Given the description of an element on the screen output the (x, y) to click on. 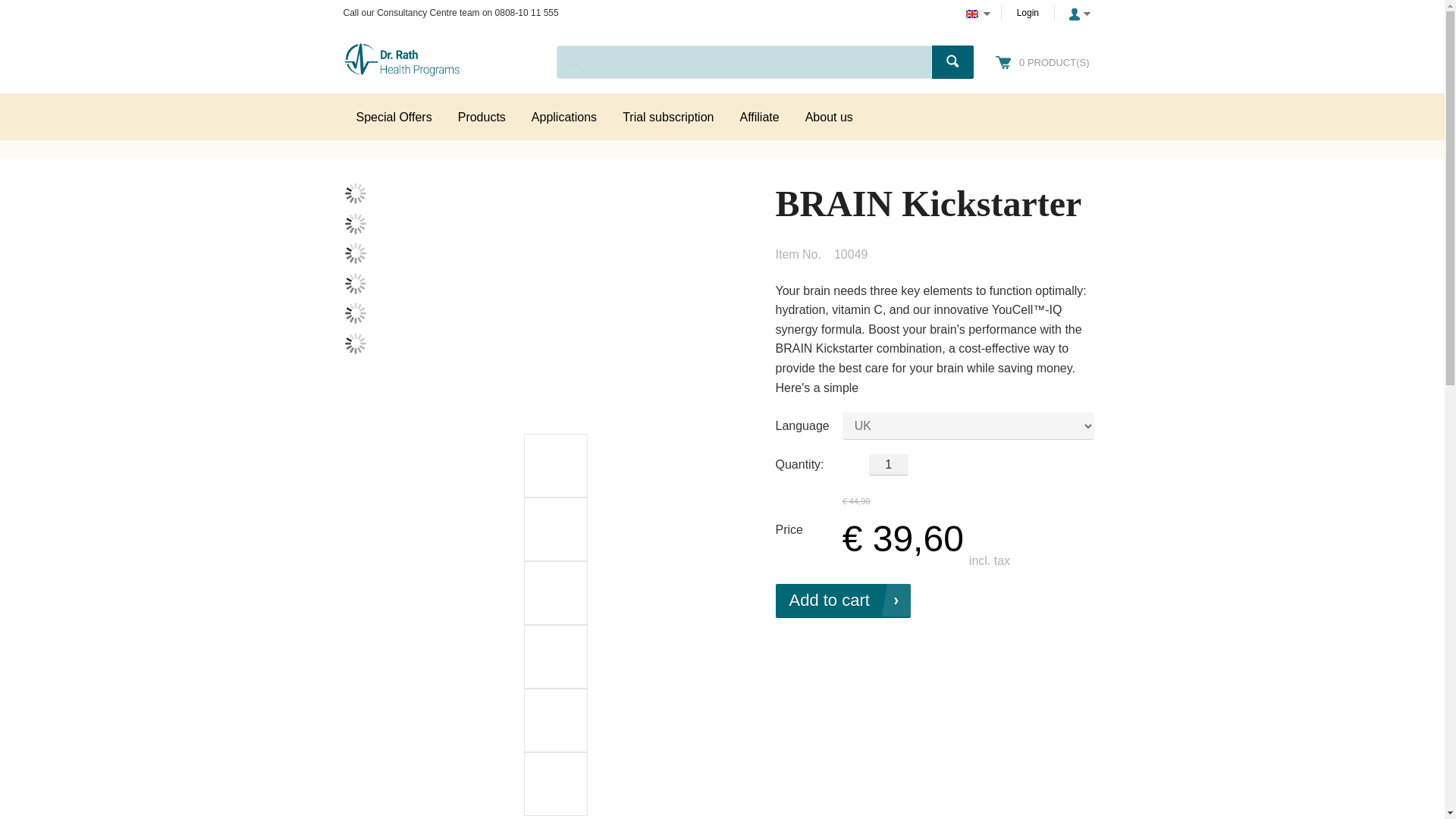
ES (354, 343)
Special Offers (393, 116)
English (972, 13)
Applications (564, 116)
Login (1027, 12)
1 (888, 464)
IT (354, 283)
FR (354, 252)
